Given the description of an element on the screen output the (x, y) to click on. 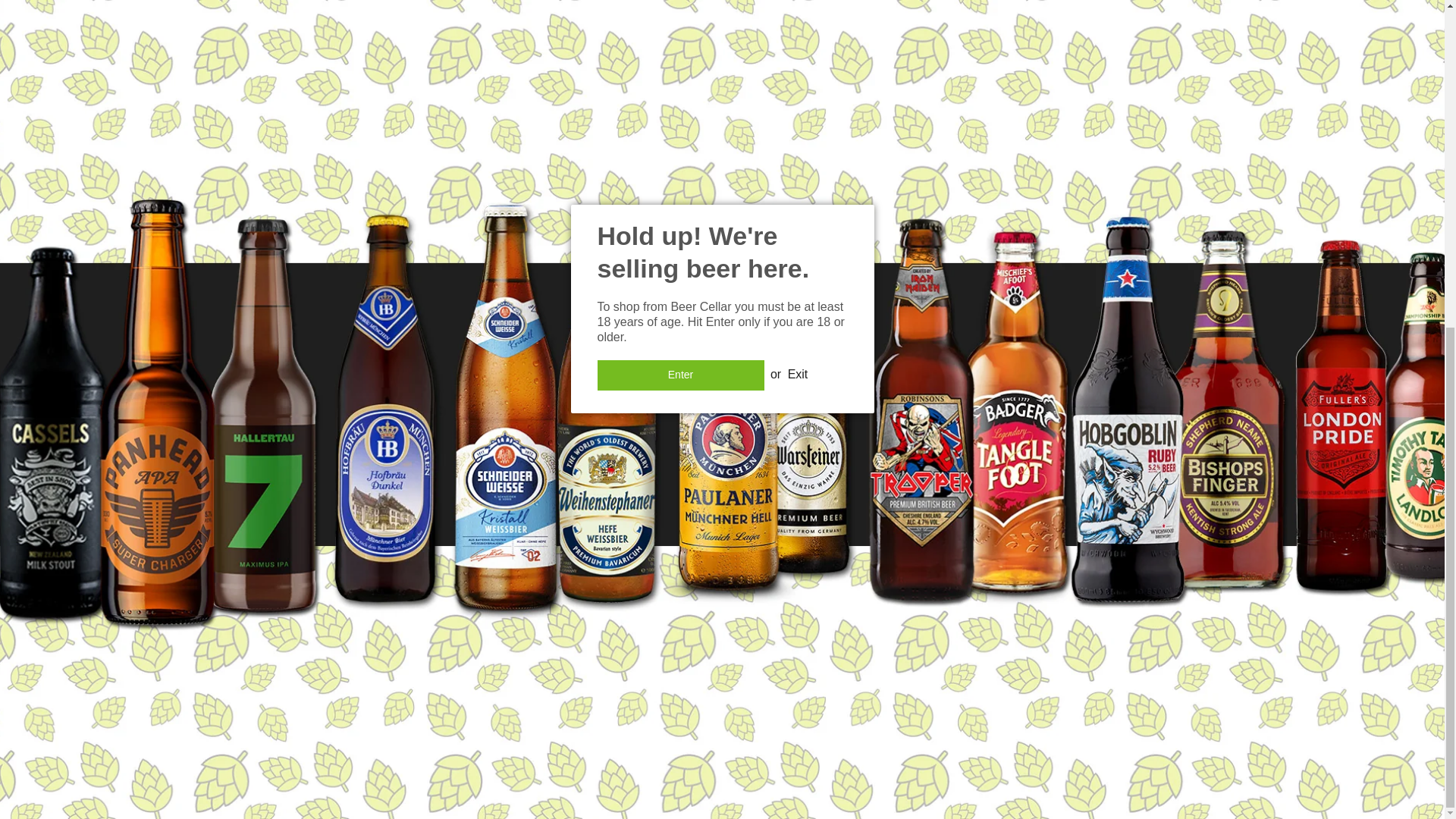
American Express (635, 760)
Shop Pay (775, 760)
Apple Pay (670, 760)
Visa (846, 760)
Google Pay (705, 760)
Mastercard (740, 760)
Union Pay (812, 760)
Join (1029, 536)
